Given the description of an element on the screen output the (x, y) to click on. 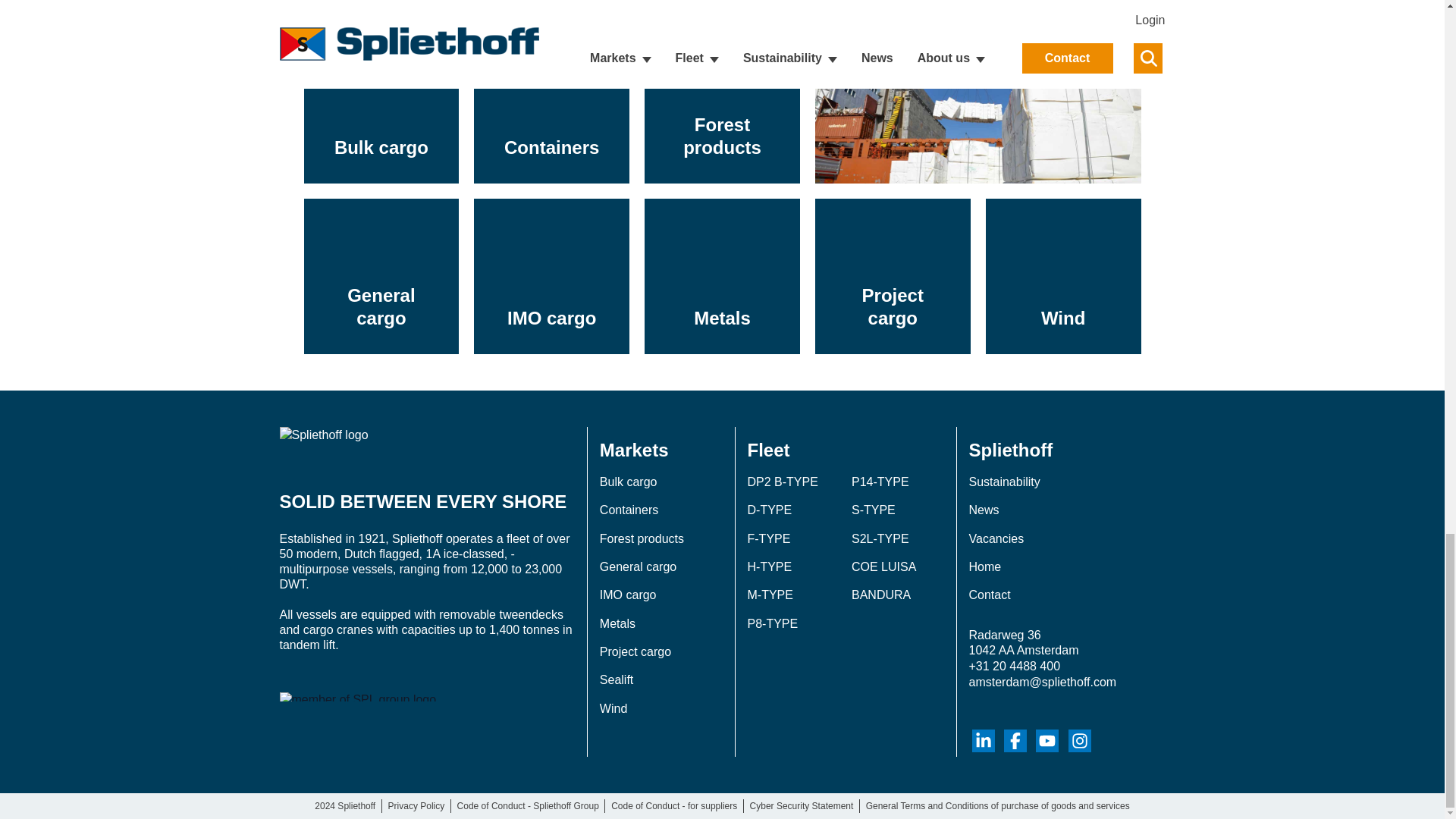
YouTube (1046, 740)
Home (426, 446)
Instagram (1079, 740)
LinkedIn (983, 740)
Facebook (1015, 740)
